Given the description of an element on the screen output the (x, y) to click on. 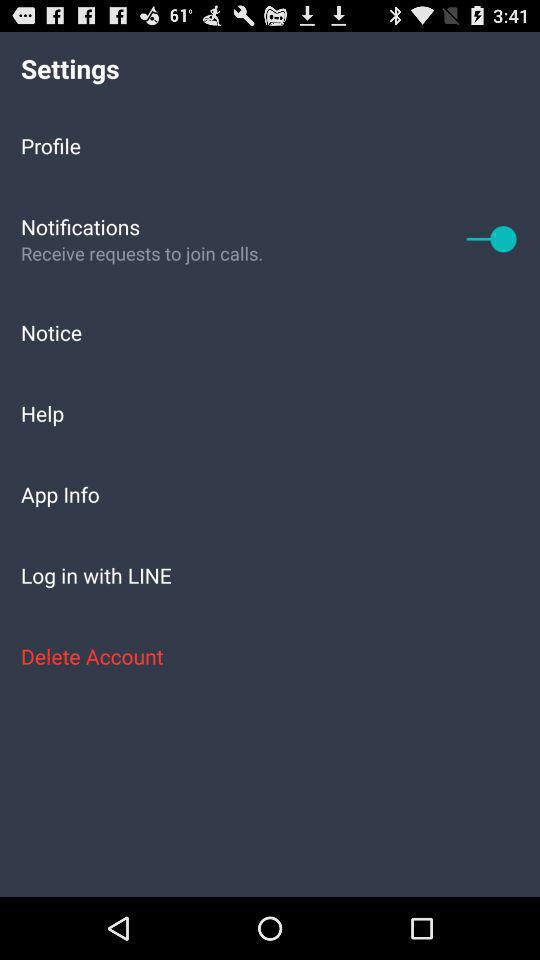
choose profile app (270, 145)
